Given the description of an element on the screen output the (x, y) to click on. 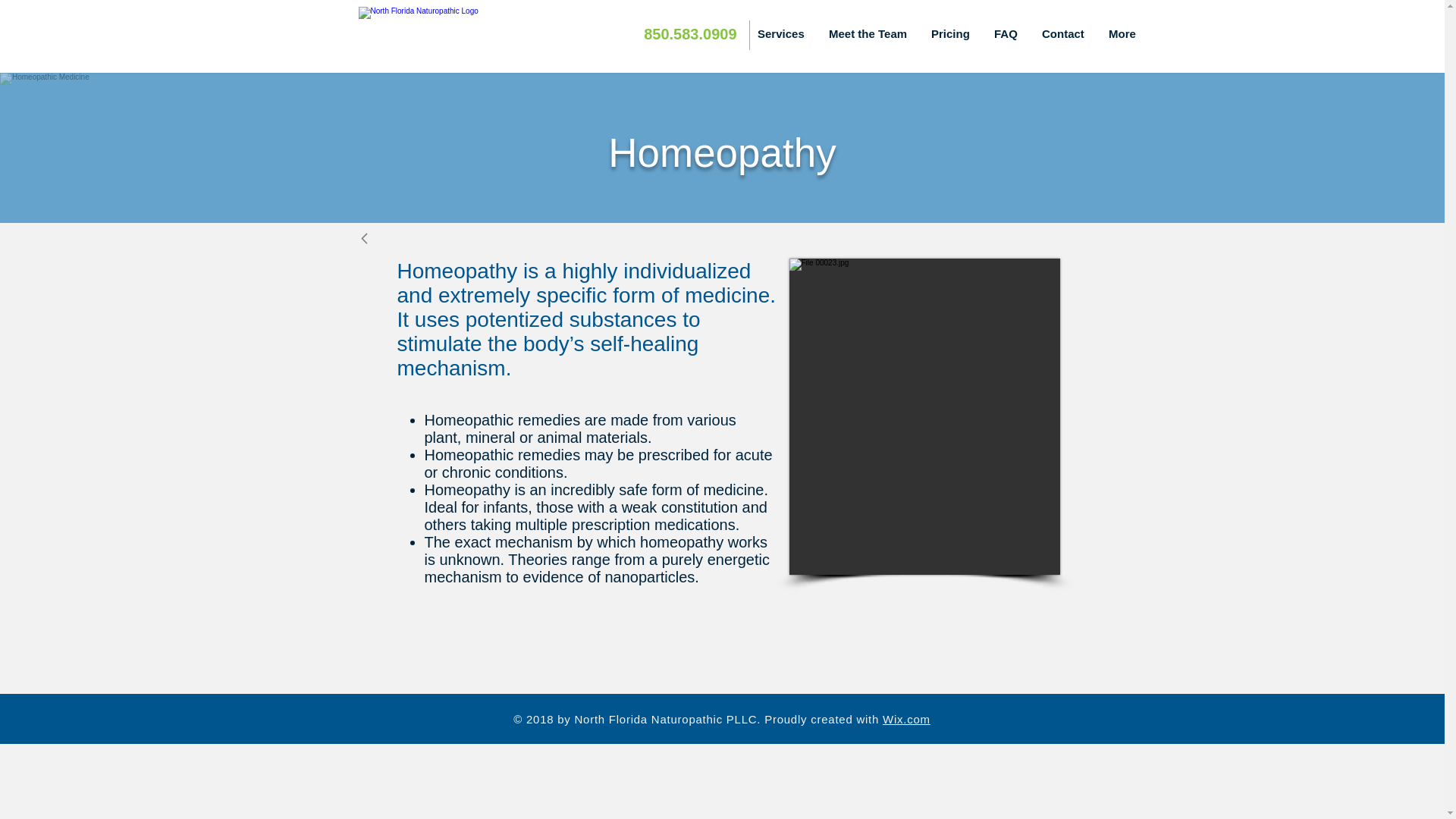
Click here to go home (456, 34)
Pricing (951, 34)
Wix.com (906, 718)
Back (380, 237)
FAQ (1006, 34)
Services (780, 34)
Contact (1063, 34)
Meet the Team (868, 34)
